Given the description of an element on the screen output the (x, y) to click on. 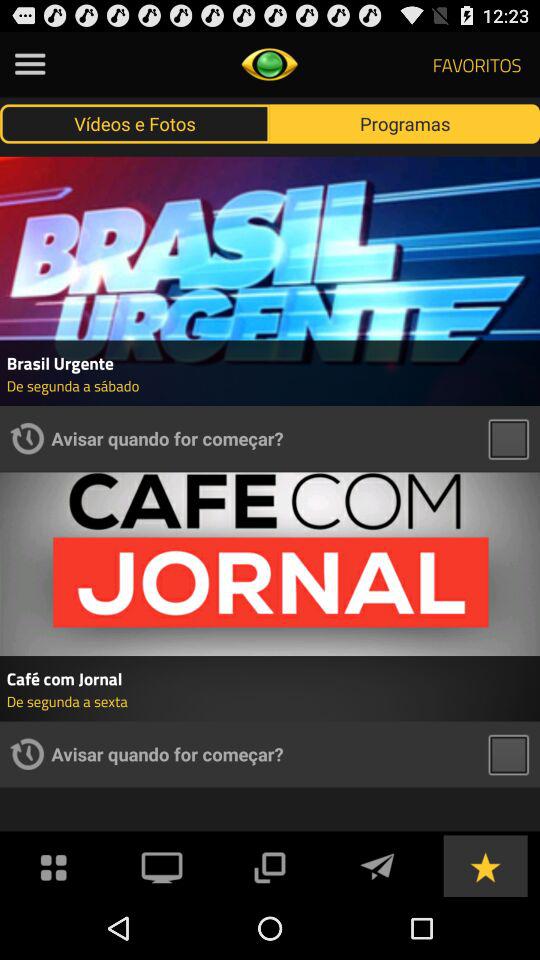
go to menu (29, 64)
